Given the description of an element on the screen output the (x, y) to click on. 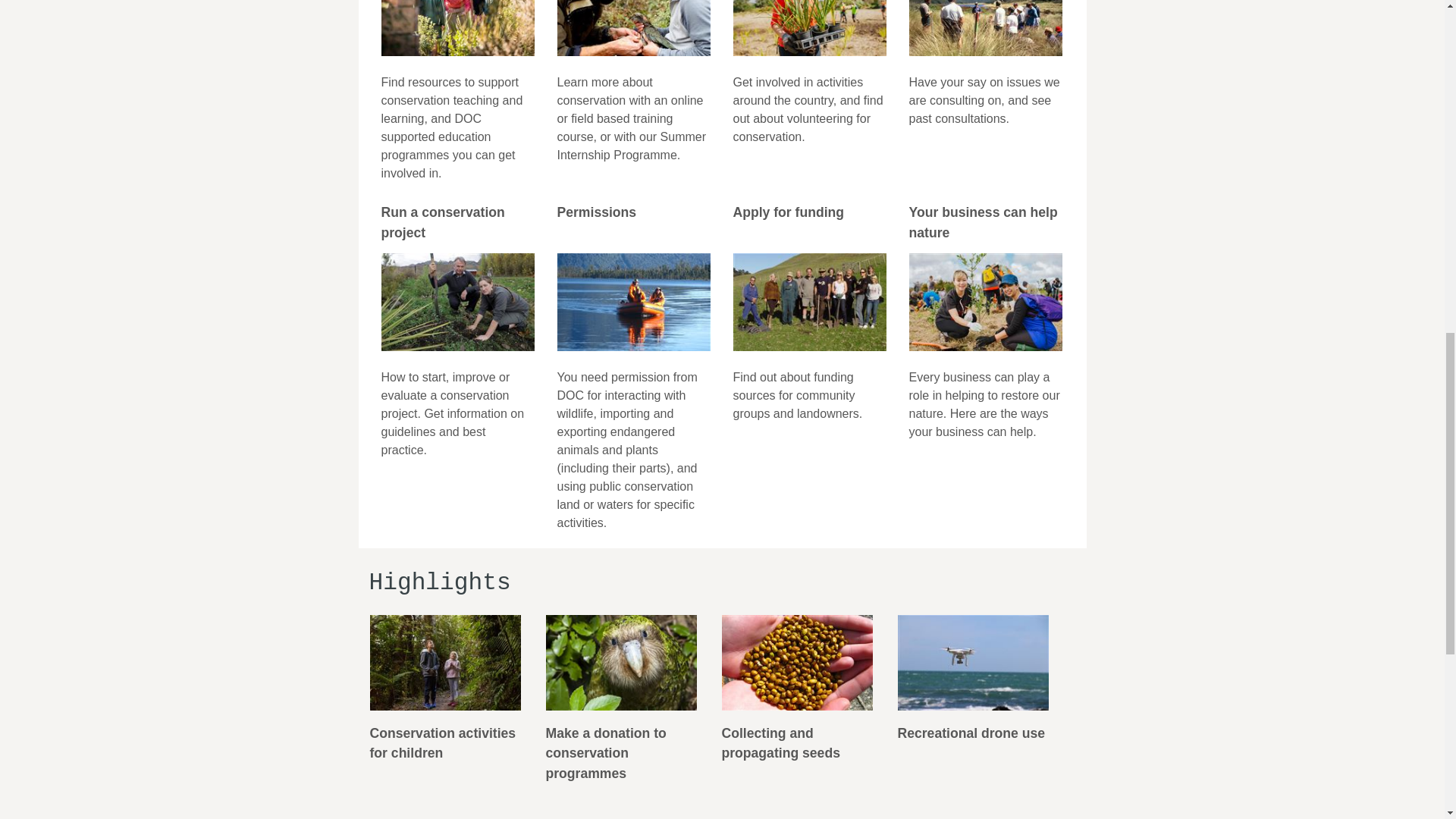
Have your say (984, 31)
Run a conservation project (457, 304)
Ecosource seeds: Native plant restoration (797, 692)
Volunteer for conservation (808, 31)
Conservation activities: Get involved (445, 692)
Permissions (633, 304)
Training in conservation (633, 31)
Your business can help nature (984, 304)
Teaching resources for learning in nature (457, 31)
Recreational drone use: Apply for permits (972, 682)
Apply for funding (808, 304)
